Given the description of an element on the screen output the (x, y) to click on. 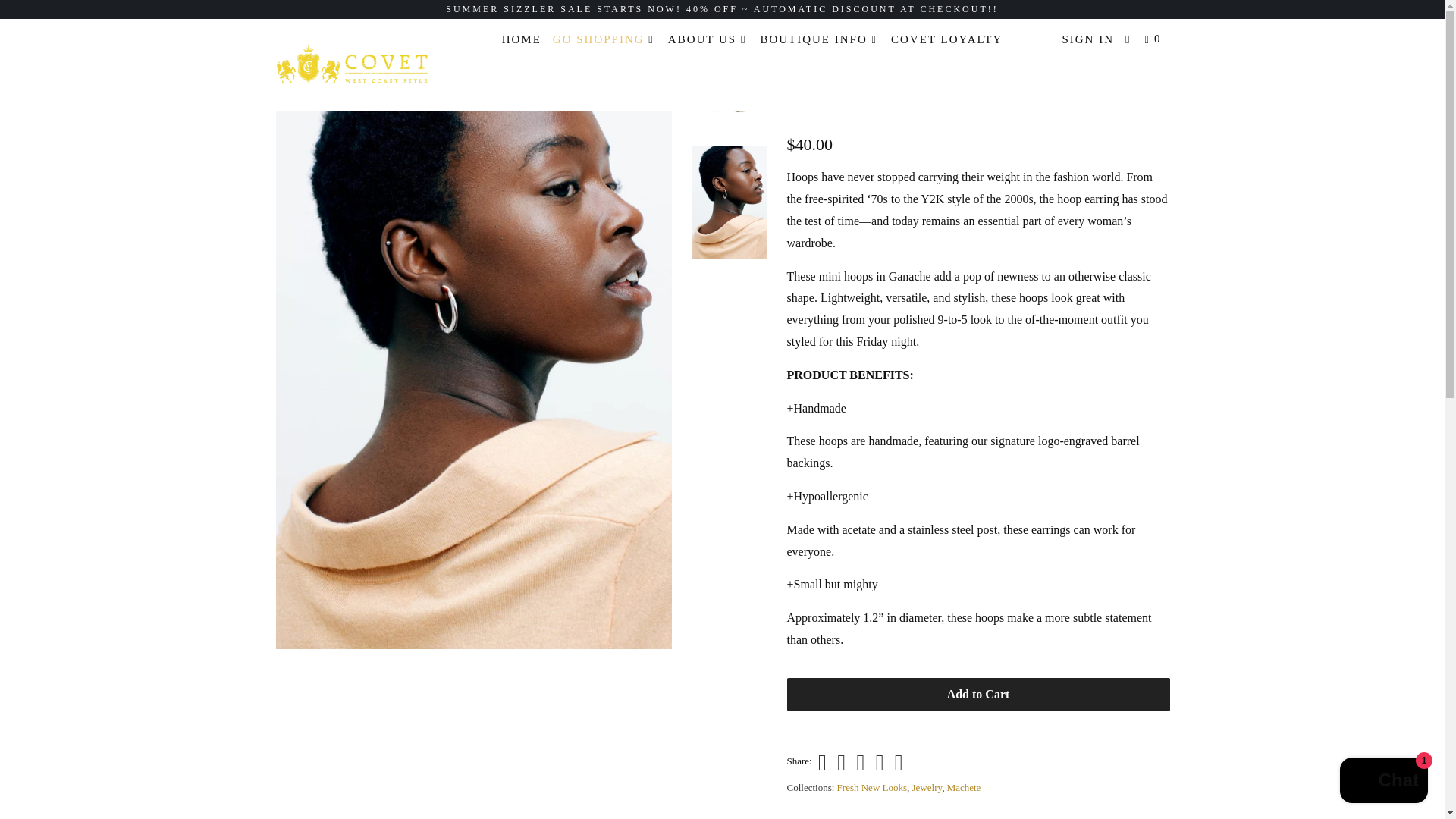
Covet in Qualicum (288, 31)
Fresh New Looks (872, 787)
My Account  (1087, 39)
Covet in Qualicum (352, 64)
Machete (807, 106)
Jewelry (927, 787)
Jewelry (332, 31)
